Given the description of an element on the screen output the (x, y) to click on. 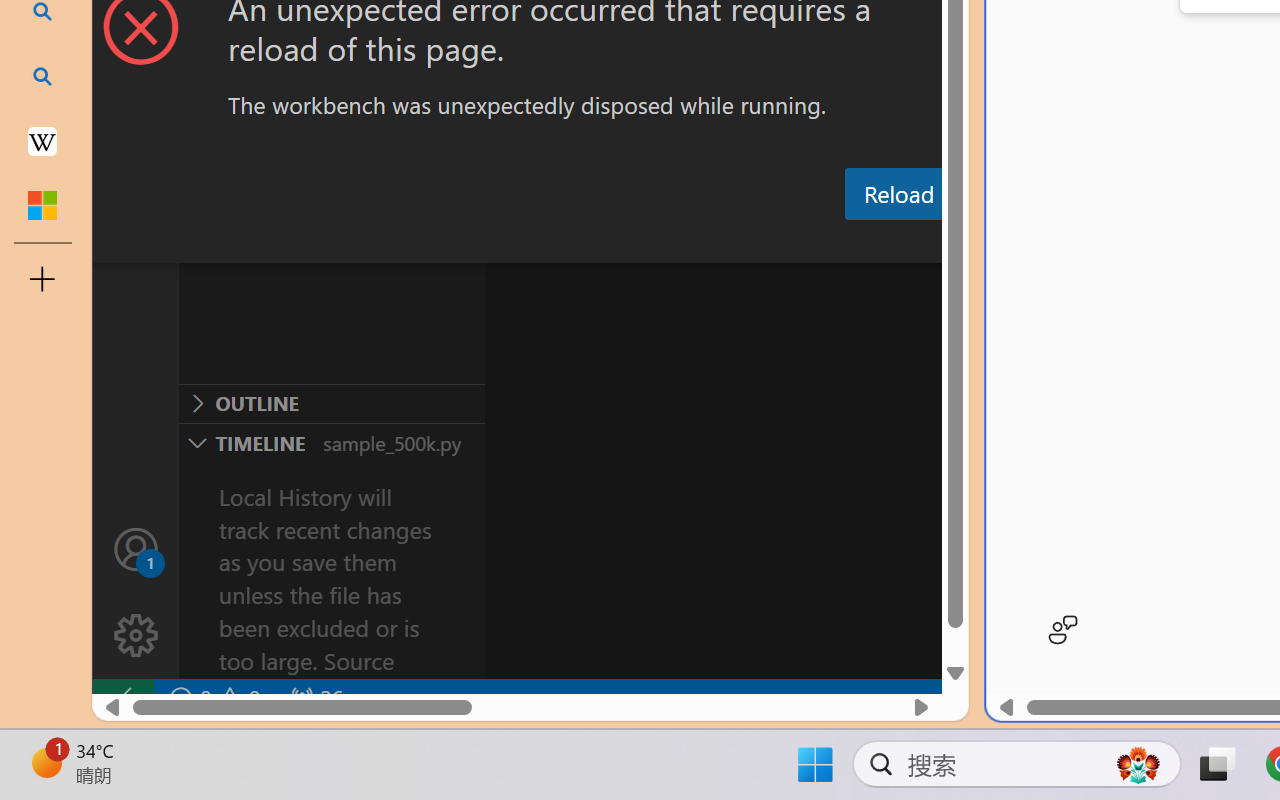
Manage (135, 591)
Outline Section (331, 403)
Earth - Wikipedia (42, 140)
Reload (898, 193)
Manage (135, 635)
